Given the description of an element on the screen output the (x, y) to click on. 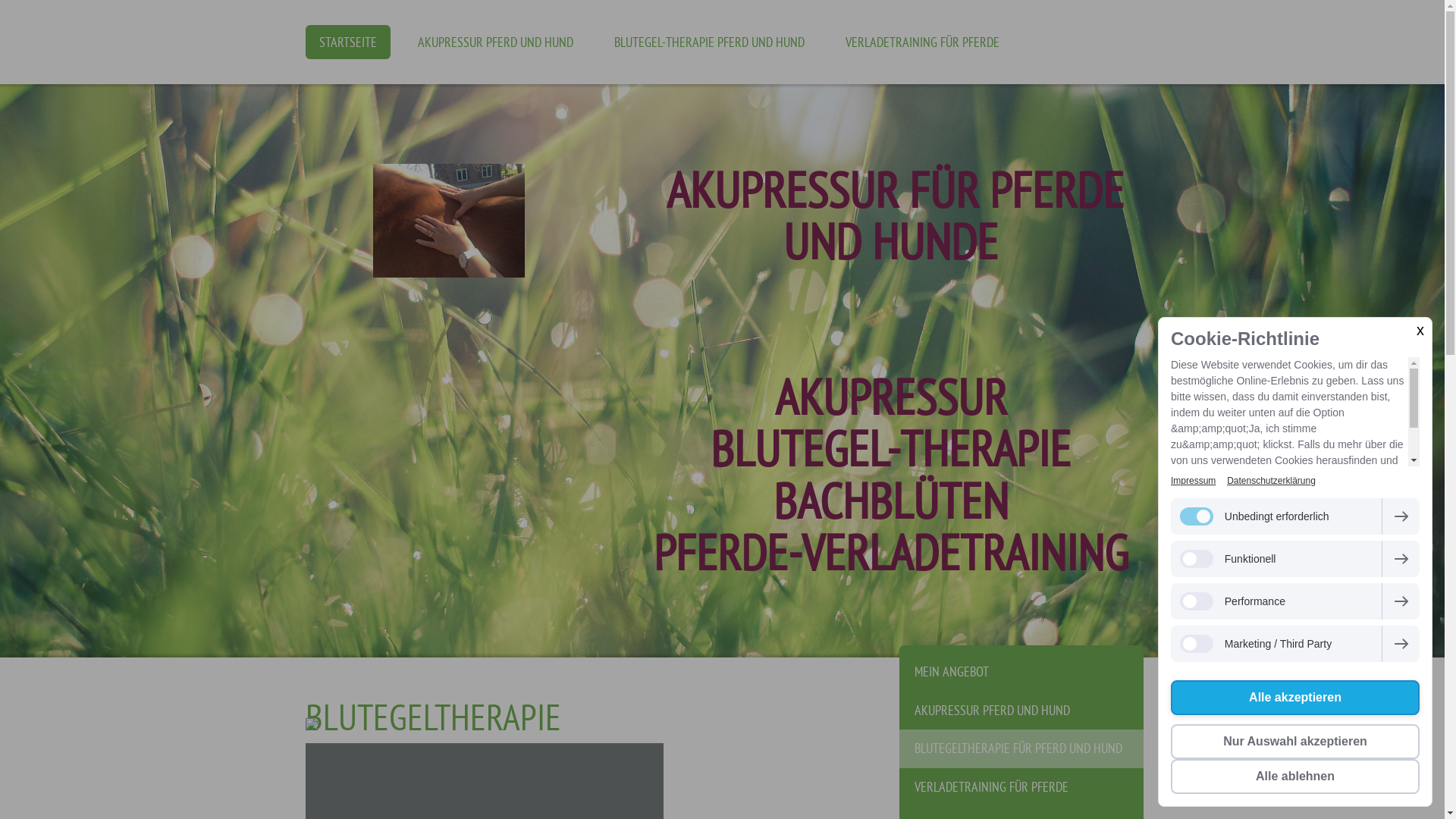
Impressum Element type: text (1192, 480)
Alle ablehnen Element type: text (1294, 776)
AKUPRESSUR PFERD UND HUND Element type: text (1021, 710)
BLUTEGEL-THERAPIE PFERD UND HUND Element type: text (709, 42)
MEIN ANGEBOT Element type: text (1021, 668)
Alle akzeptieren Element type: text (1294, 697)
Nur Auswahl akzeptieren Element type: text (1294, 741)
STARTSEITE Element type: text (346, 42)
AKUPRESSUR PFERD UND HUND Element type: text (494, 42)
